Given the description of an element on the screen output the (x, y) to click on. 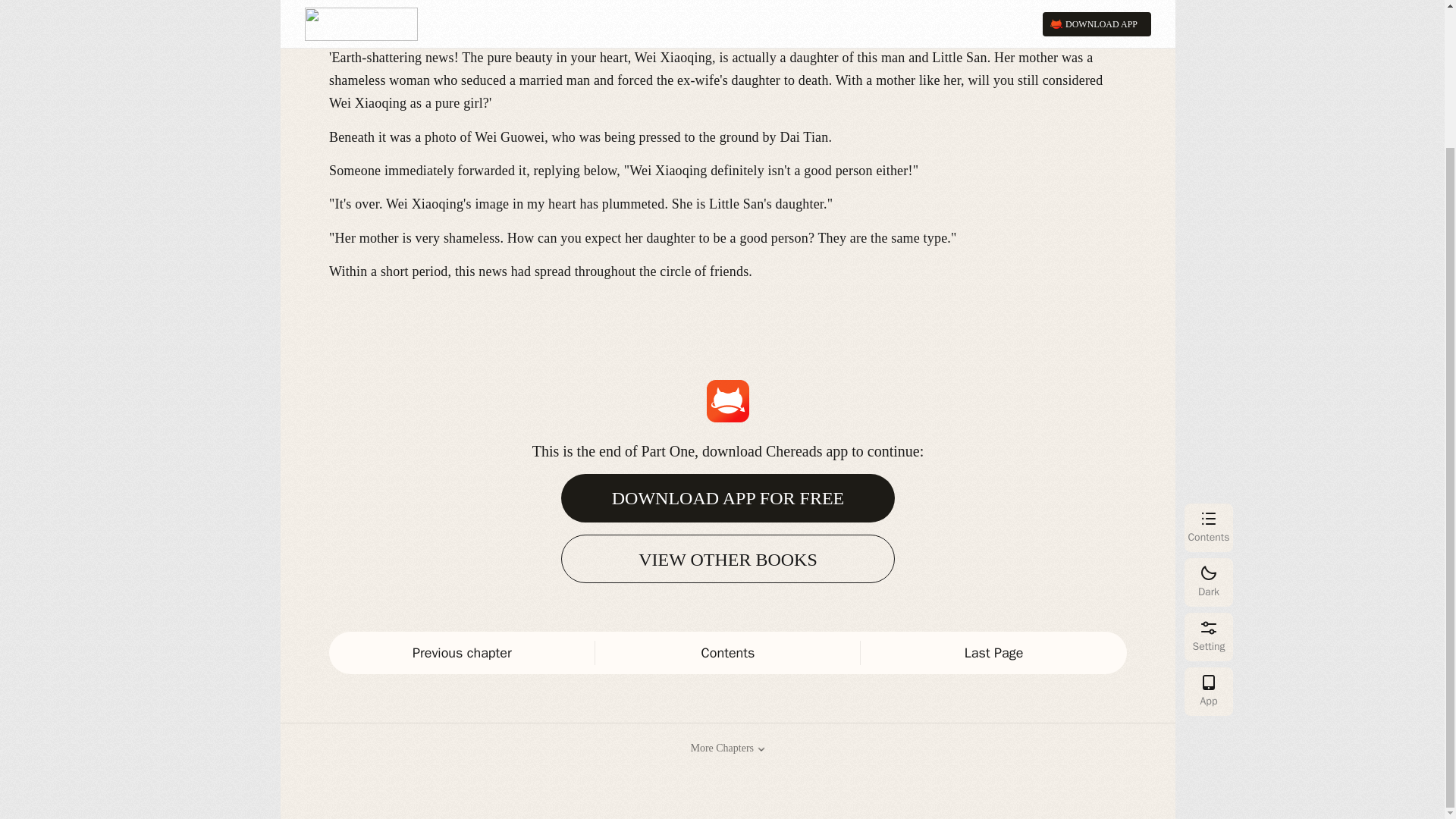
Previous chapter (462, 652)
VIEW OTHER BOOKS (727, 558)
Contents (728, 652)
More Chapters (727, 748)
Last Page (993, 652)
App (1209, 522)
Setting (1209, 467)
Contents (1209, 358)
Dark (1209, 413)
DOWNLOAD APP FOR FREE (727, 498)
